Given the description of an element on the screen output the (x, y) to click on. 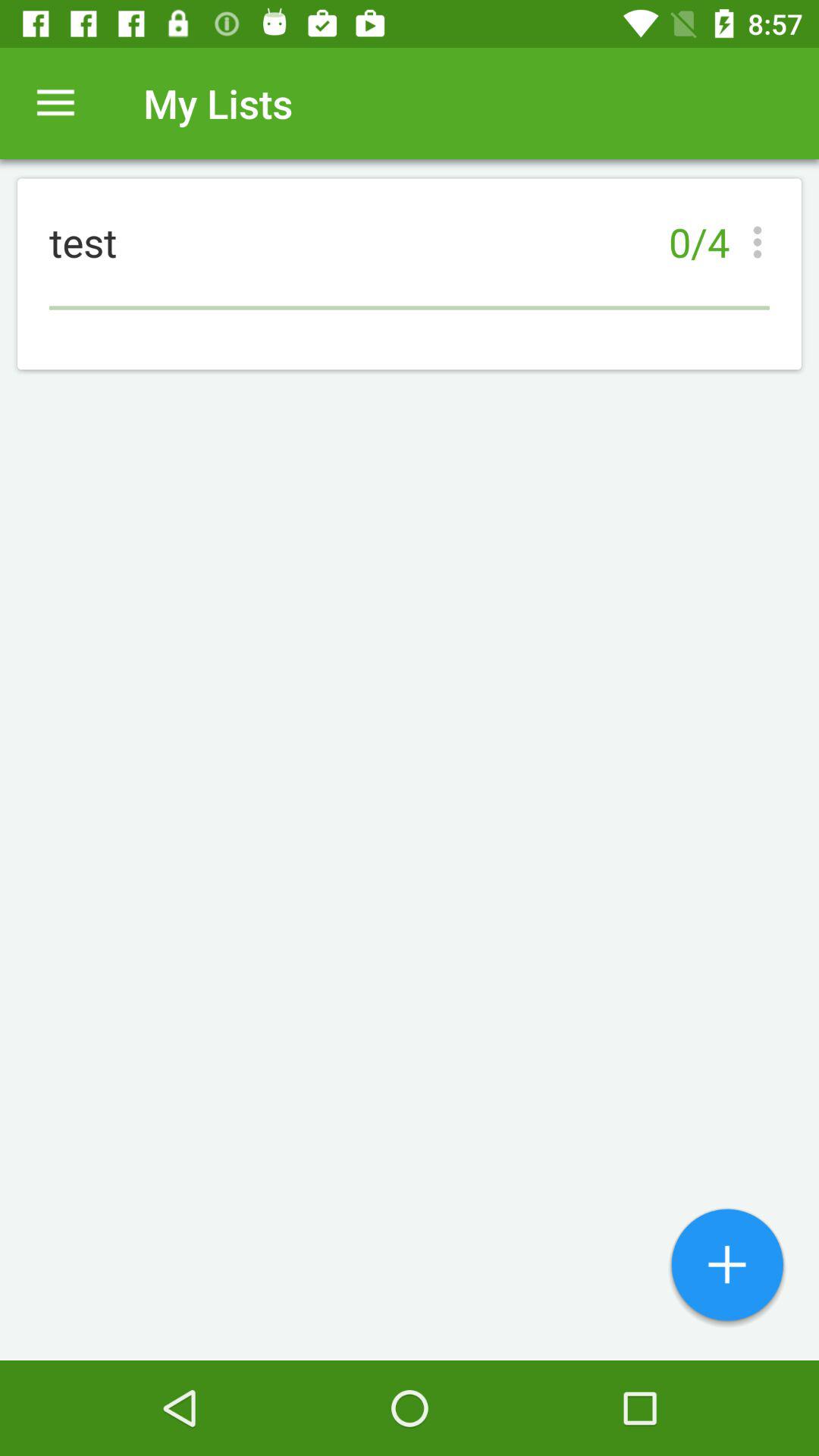
choose the item next to the test item (761, 242)
